Given the description of an element on the screen output the (x, y) to click on. 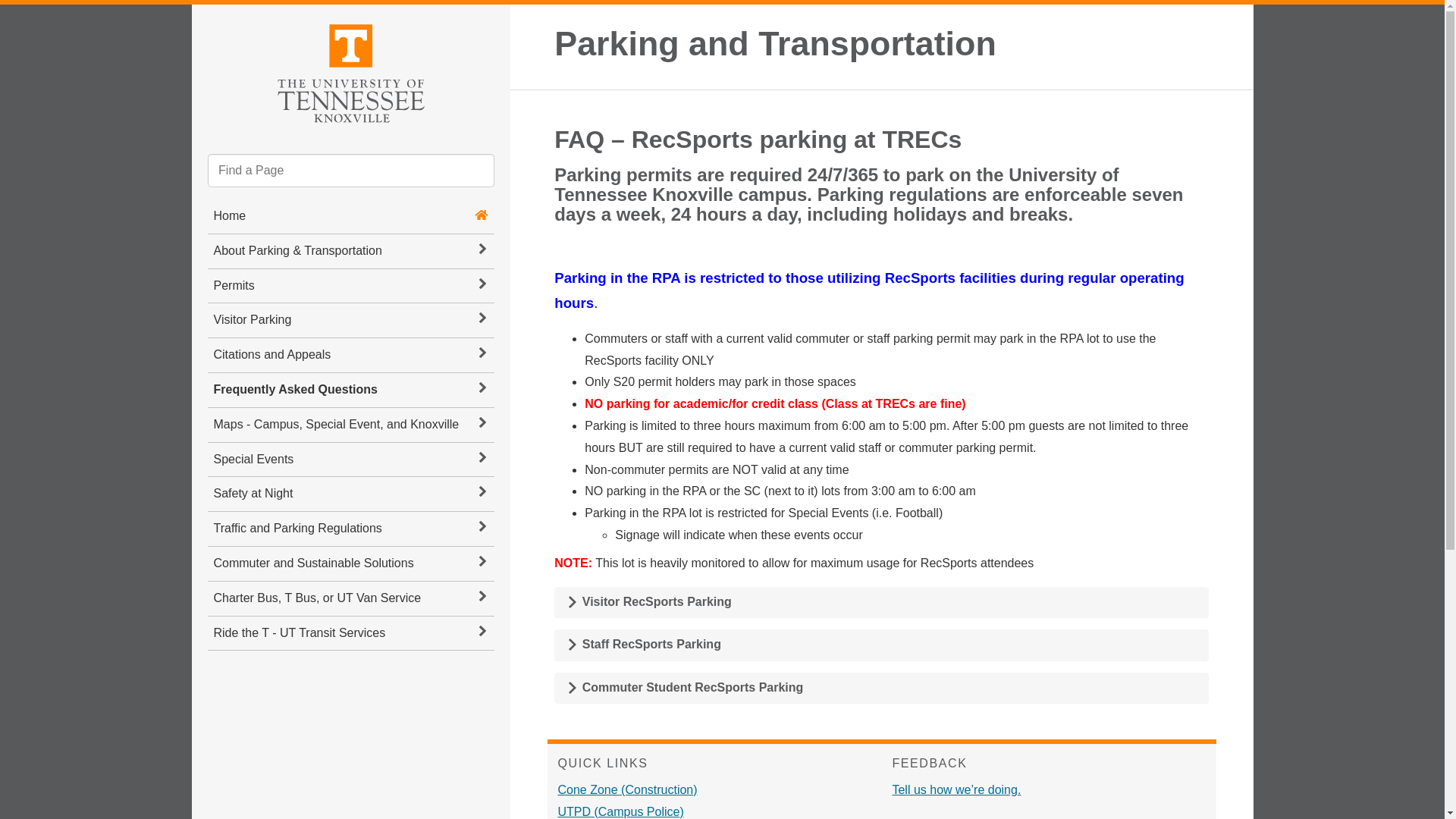
Skip to content (204, 17)
Skip to content (204, 17)
Permits (351, 286)
Parking and Transportation (774, 43)
The University of Tennessee, Knoxville (349, 70)
Home (230, 215)
